Given the description of an element on the screen output the (x, y) to click on. 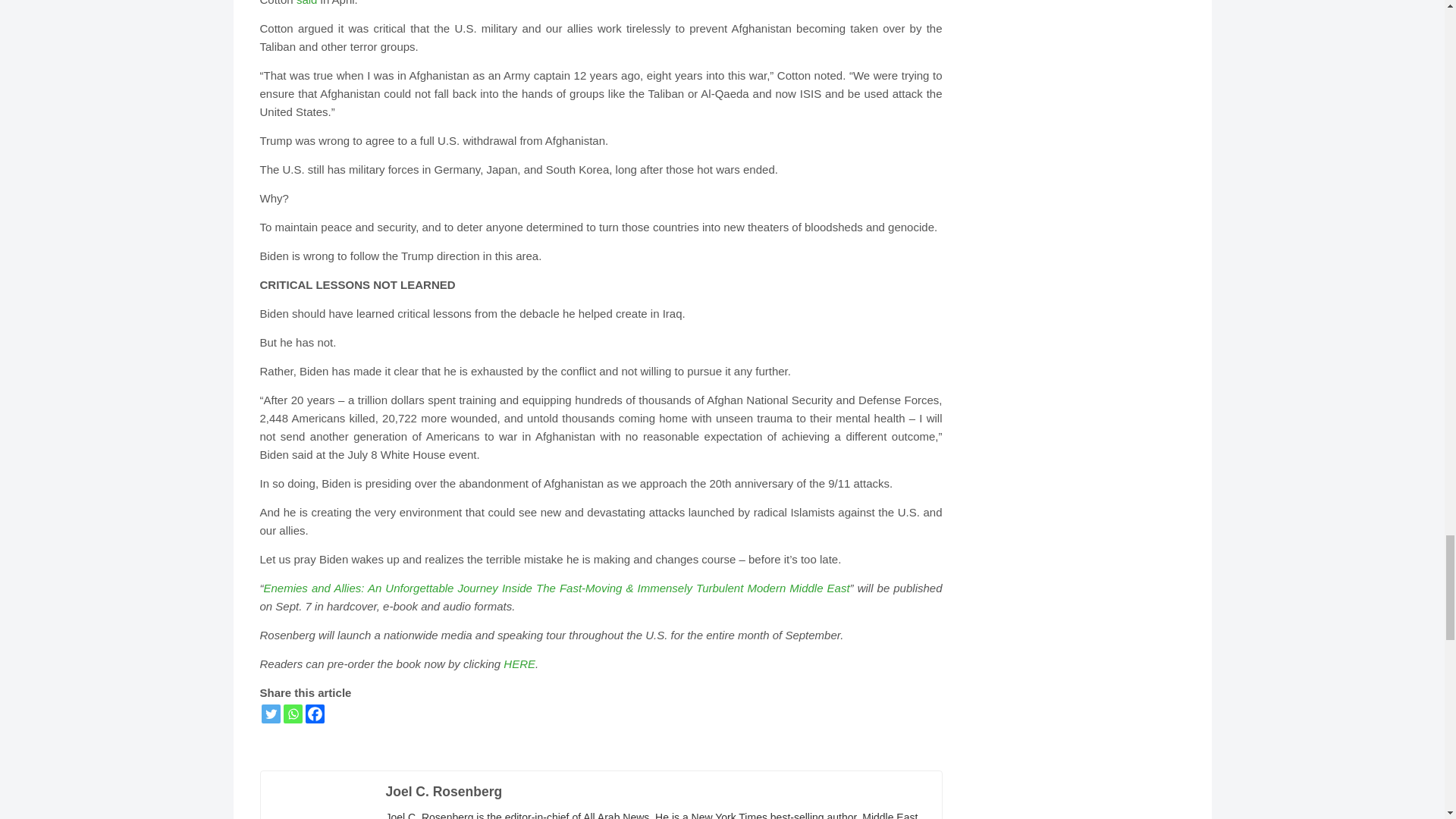
HERE (519, 663)
Whatsapp (292, 713)
said (307, 2)
Twitter (269, 713)
Facebook (313, 713)
